Given the description of an element on the screen output the (x, y) to click on. 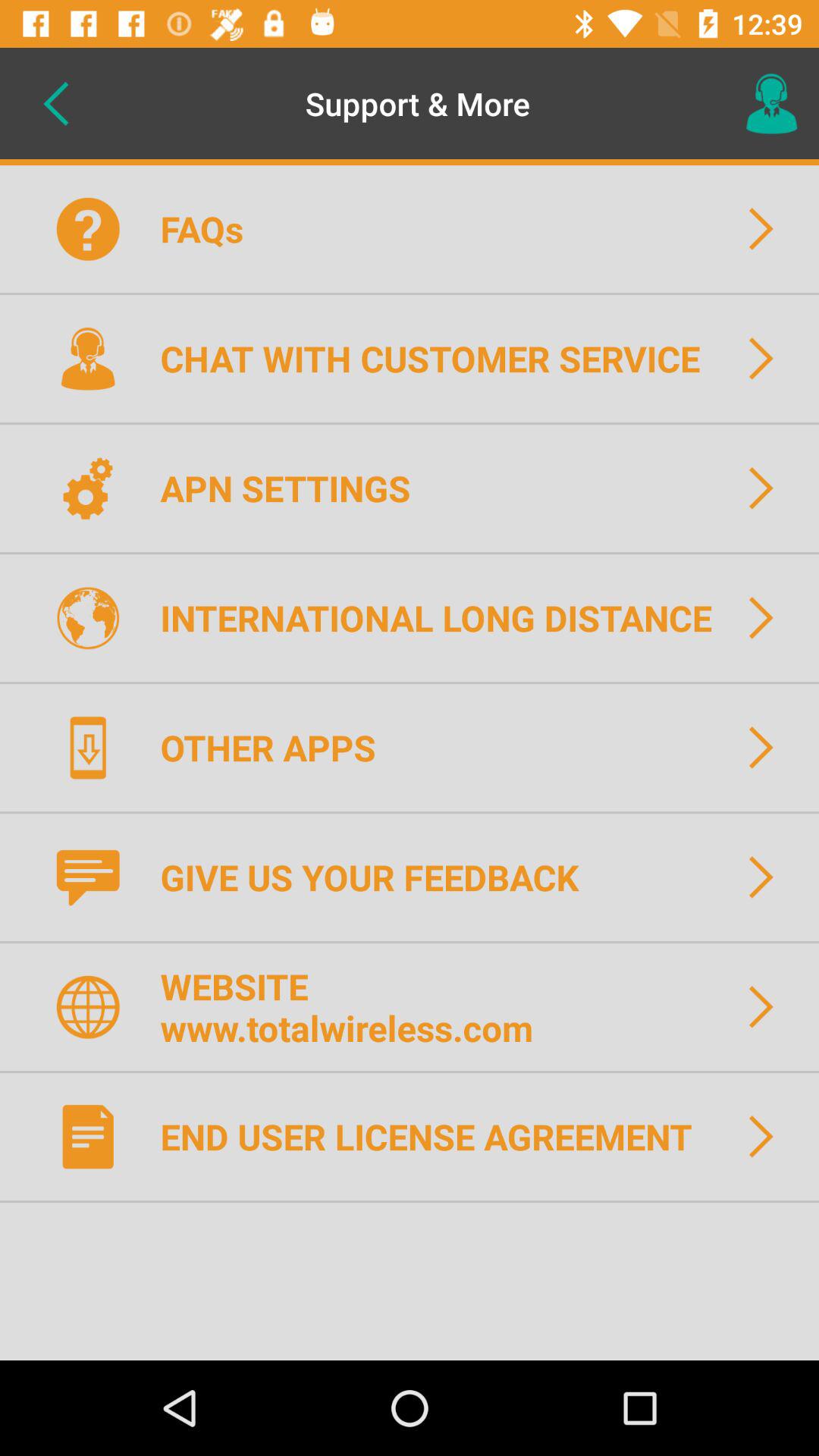
press end user license (435, 1136)
